Given the description of an element on the screen output the (x, y) to click on. 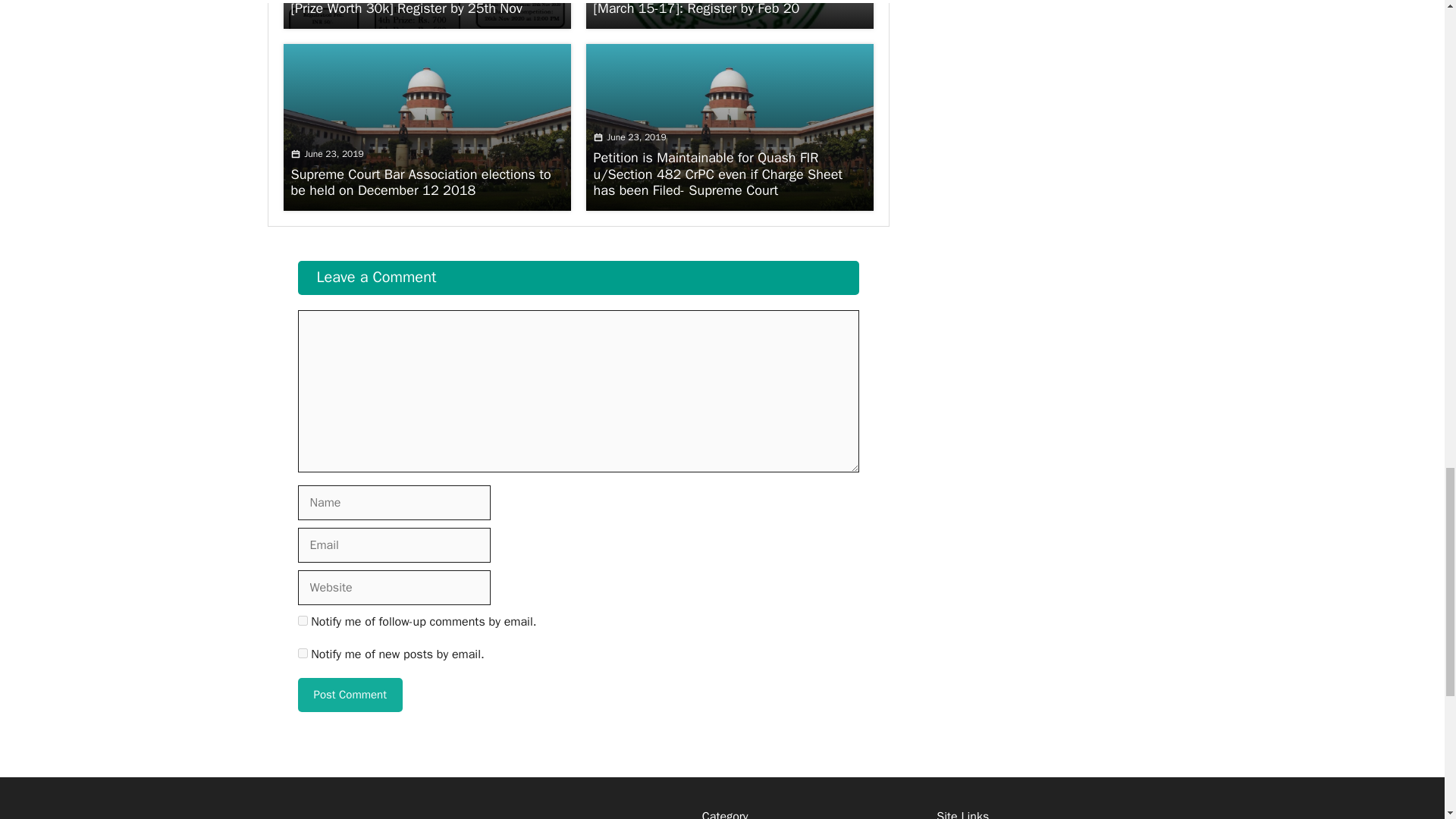
subscribe (302, 620)
subscribe (302, 653)
Post Comment (349, 694)
